Given the description of an element on the screen output the (x, y) to click on. 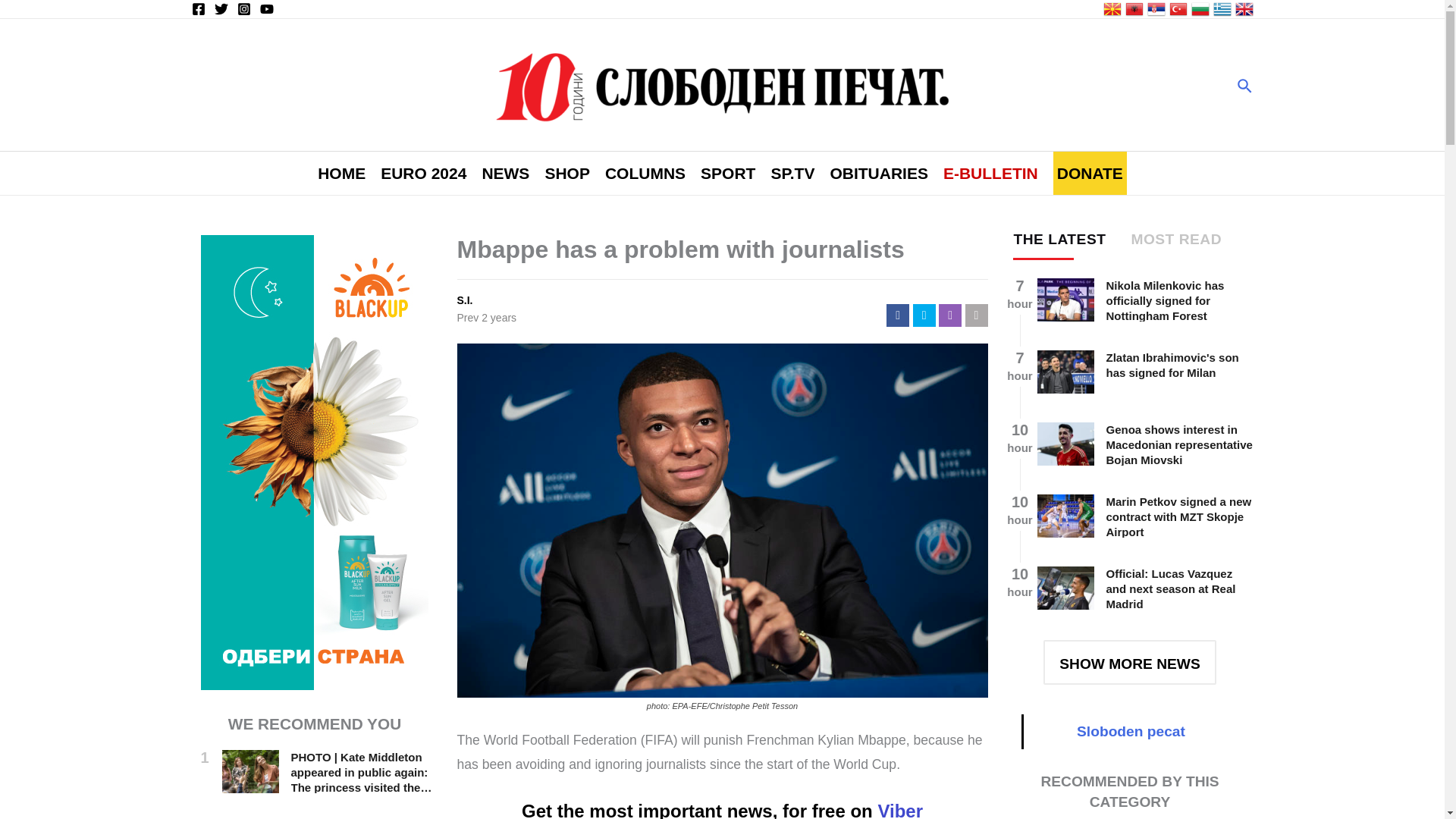
SHOP (566, 172)
EURO 2024 (422, 172)
HOME (341, 172)
Turkish (1178, 7)
Greek (1221, 7)
Macedonian (1111, 7)
NEWS (505, 172)
Bulgarian (1199, 7)
Albanian (1133, 7)
Serbian (1155, 7)
English (1243, 7)
